Given the description of an element on the screen output the (x, y) to click on. 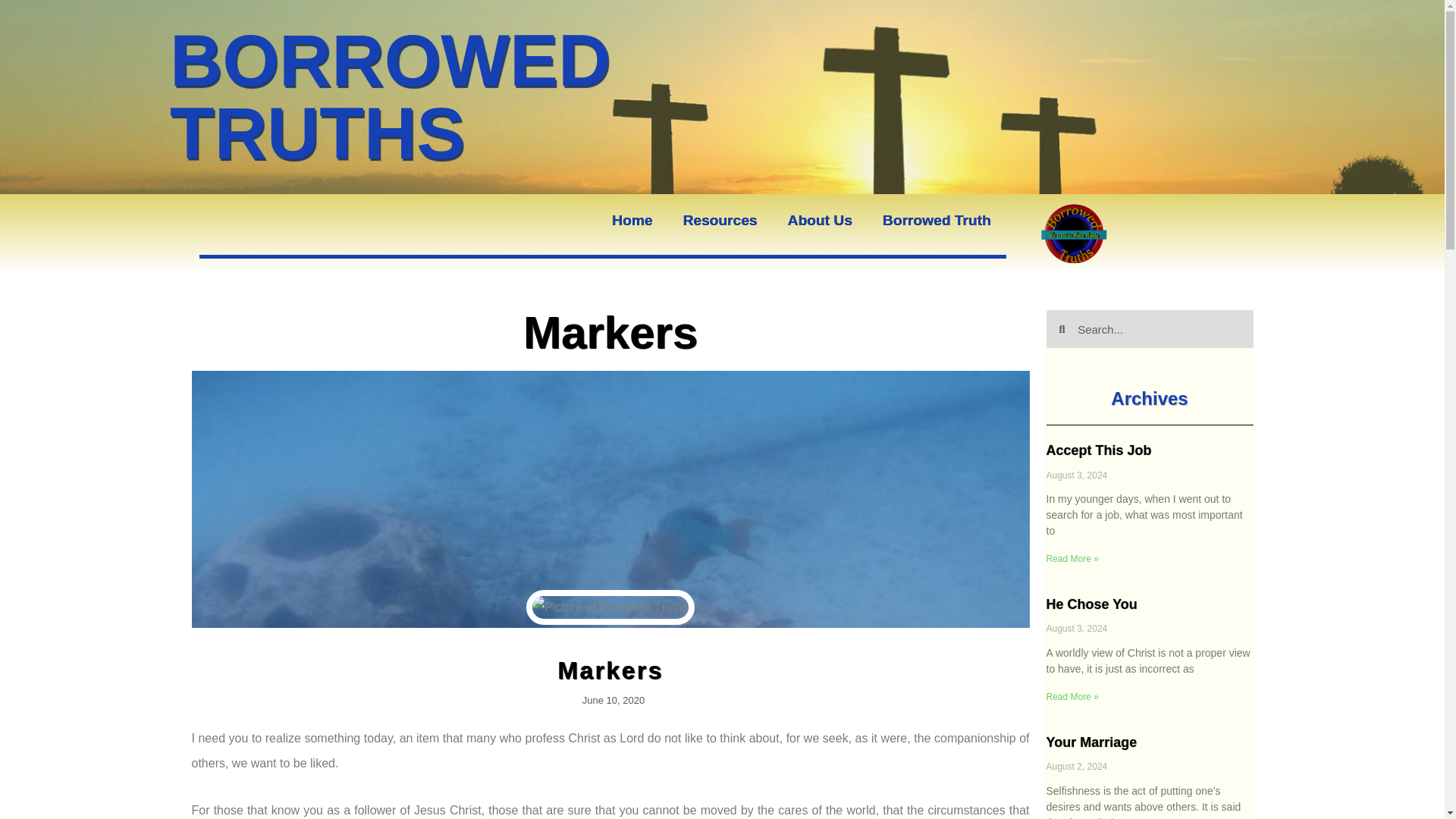
Your Marriage (1091, 742)
Resources (718, 220)
June 10, 2020 (610, 700)
Borrowed Truth (936, 220)
Accept This Job (1098, 450)
He Chose You (1091, 604)
About Us (820, 220)
image 3 (1076, 233)
Home (631, 220)
